Given the description of an element on the screen output the (x, y) to click on. 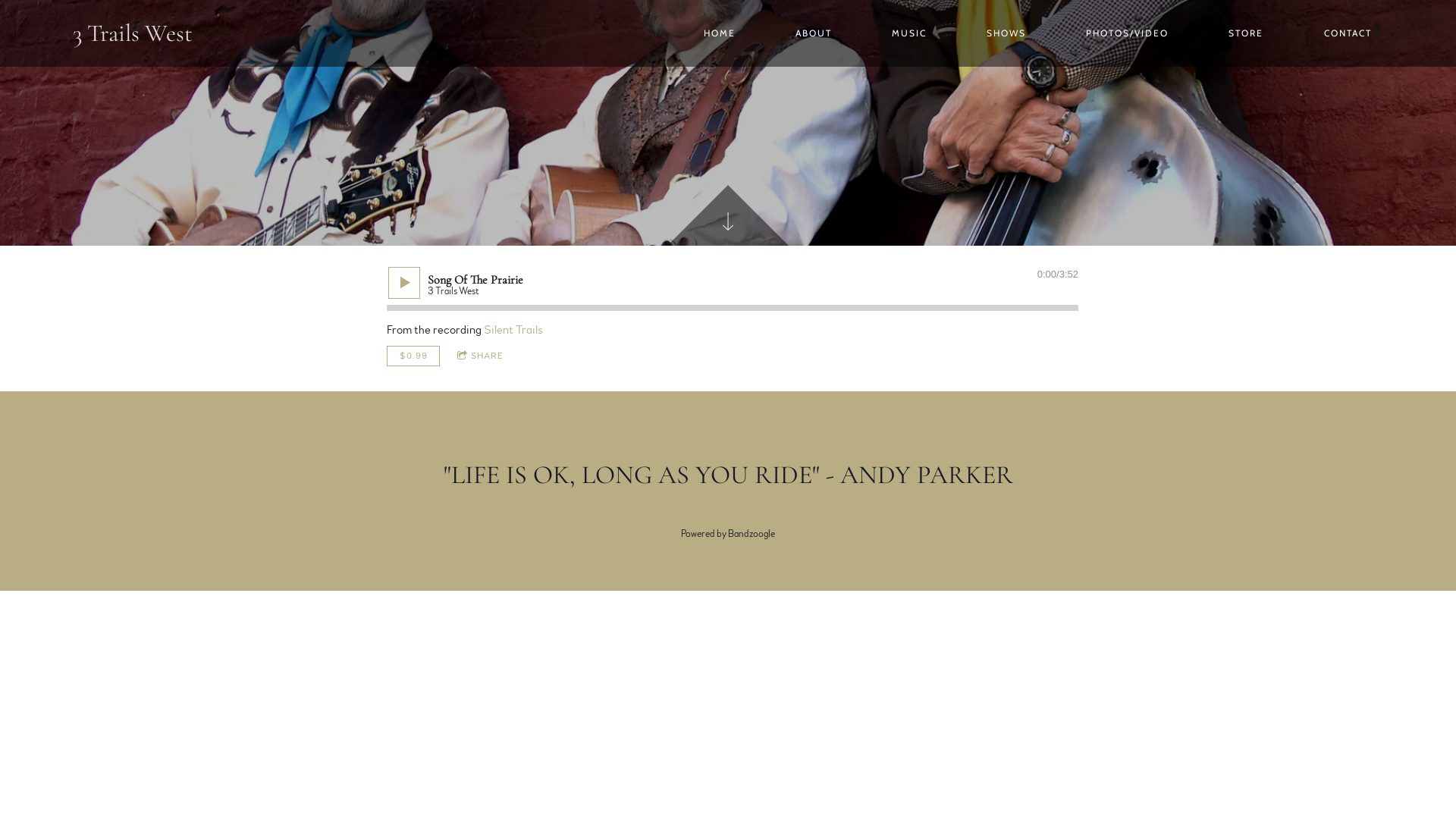
3 Trails West Element type: text (132, 32)
HOME Element type: text (718, 32)
SHOWS Element type: text (1006, 32)
Powered by Bandzoogle Element type: text (727, 534)
PHOTOS/VIDEO Element type: text (1127, 32)
$0.99 Element type: text (412, 355)
STORE Element type: text (1246, 32)
CONTACT Element type: text (1347, 32)
MUSIC Element type: text (909, 32)
SHARE Element type: text (480, 355)
Play Element type: hover (404, 282)
ABOUT Element type: text (813, 32)
Silent Trails Element type: text (512, 329)
